Given the description of an element on the screen output the (x, y) to click on. 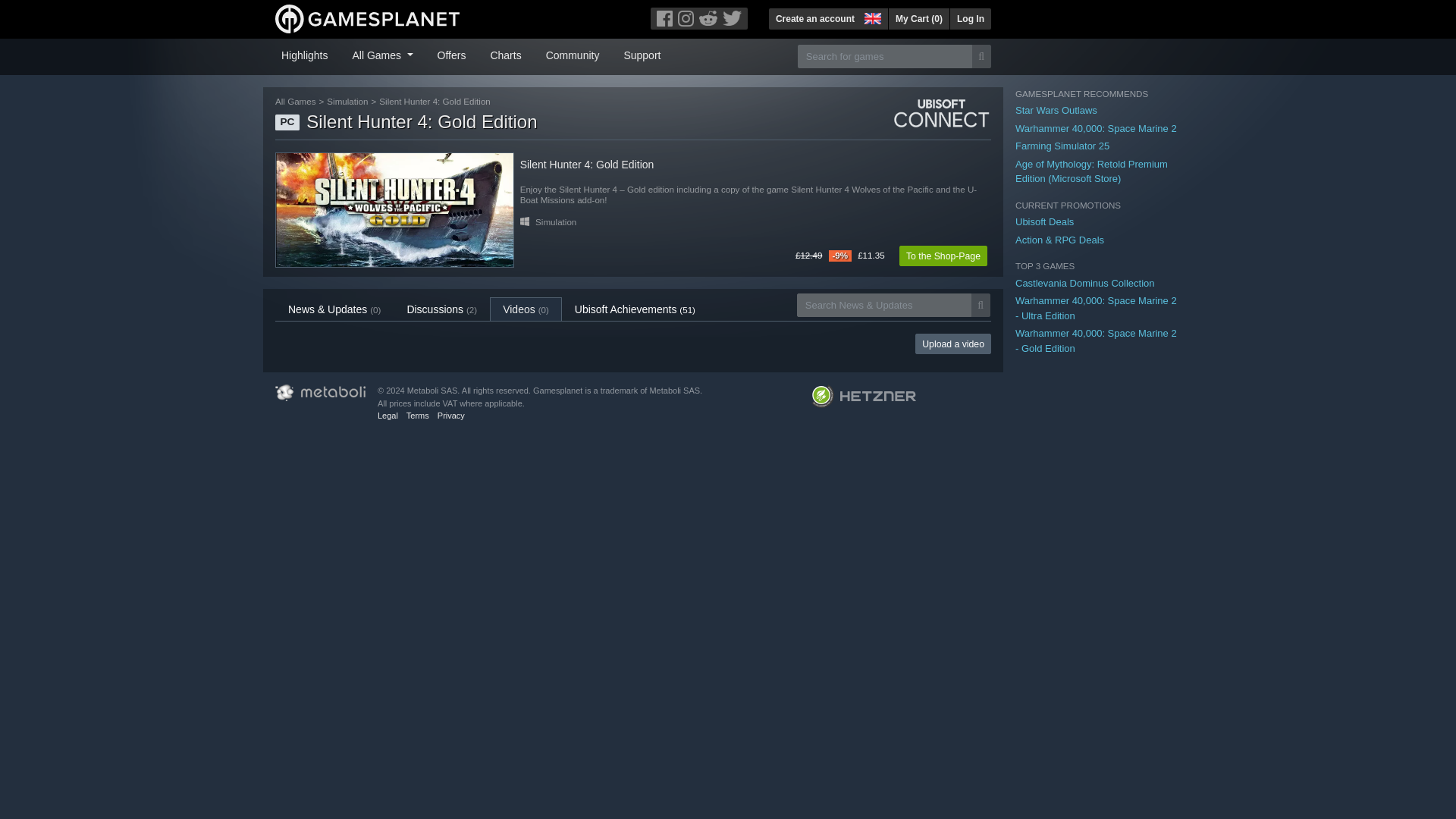
Create an account (815, 18)
Silent Hunter 4: Gold Edition (394, 209)
Highlights (304, 53)
translation missing: en-GB.community.tabs.videos (518, 309)
All Games (382, 53)
Log In (970, 18)
